Given the description of an element on the screen output the (x, y) to click on. 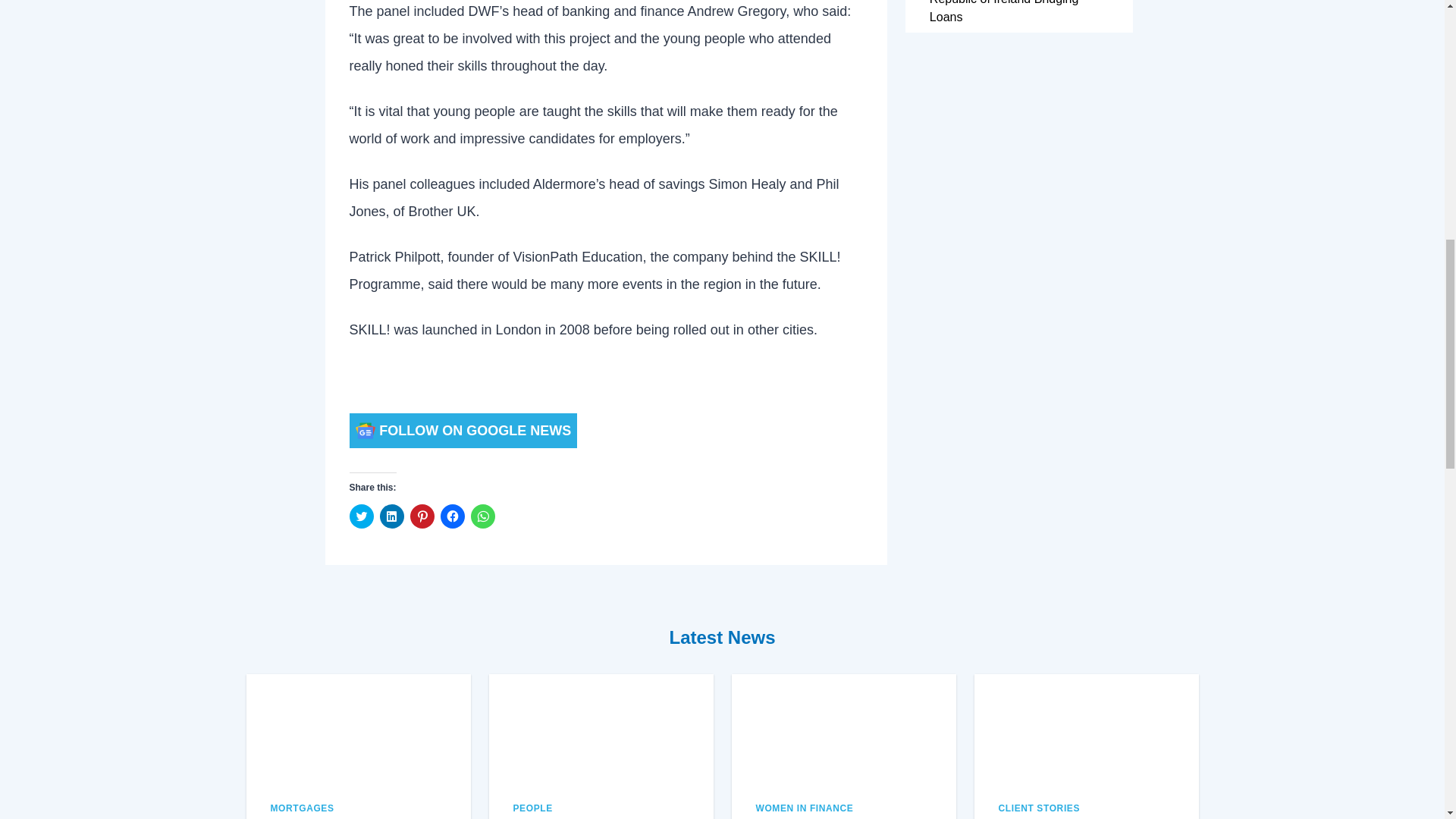
Click to share on Pinterest (421, 516)
Click to share on WhatsApp (482, 516)
Click to share on Facebook (451, 516)
Click to share on LinkedIn (390, 516)
Click to share on Twitter (360, 516)
